Given the description of an element on the screen output the (x, y) to click on. 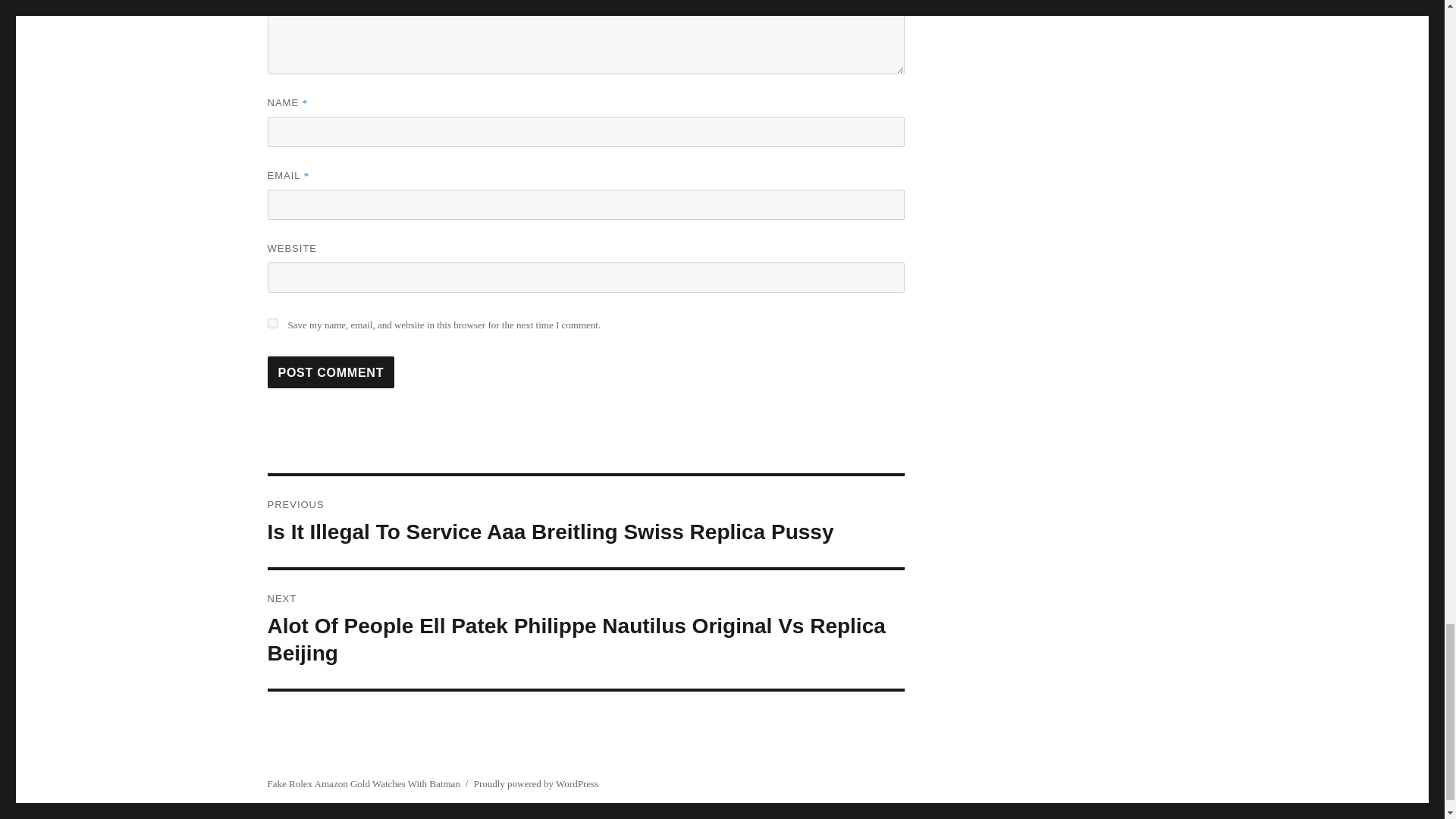
yes (271, 323)
Post Comment (330, 372)
Post Comment (330, 372)
